Given the description of an element on the screen output the (x, y) to click on. 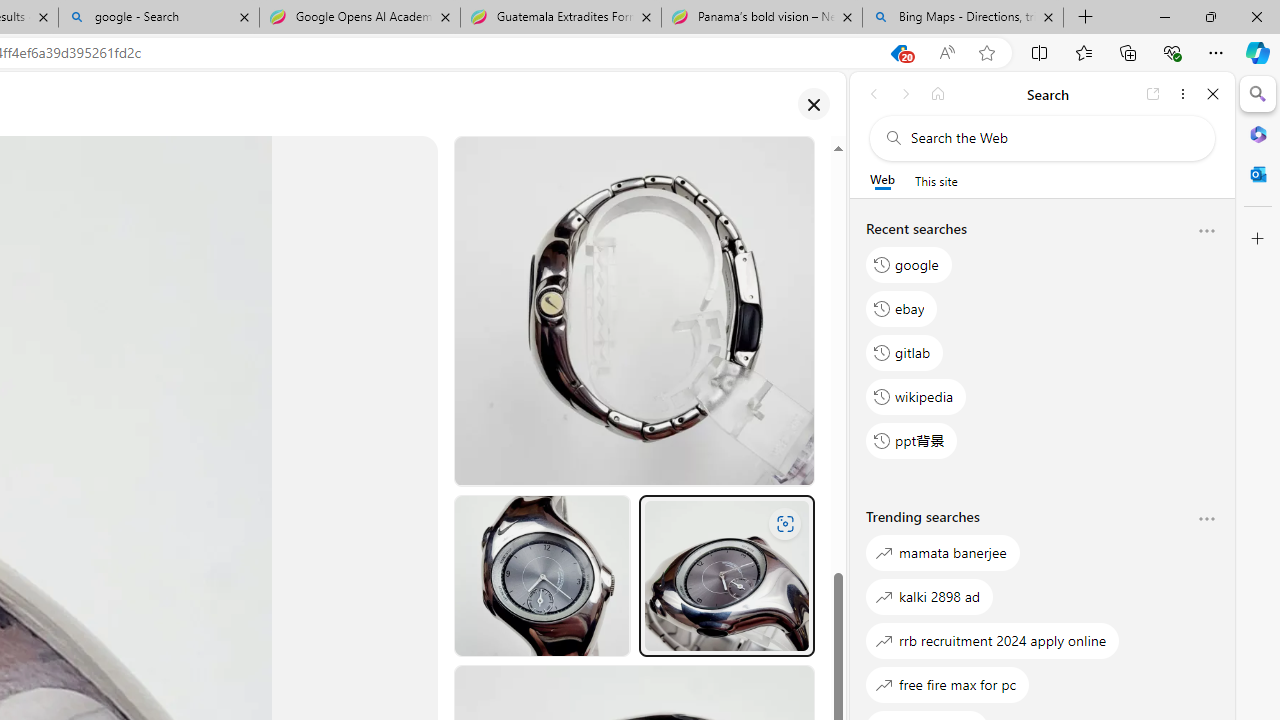
gitlab (905, 352)
google (909, 264)
Close image gallery dialog (813, 103)
You have the best price! Shopping in Microsoft Edge, 20 (898, 53)
rrb recruitment 2024 apply online (993, 640)
